Given the description of an element on the screen output the (x, y) to click on. 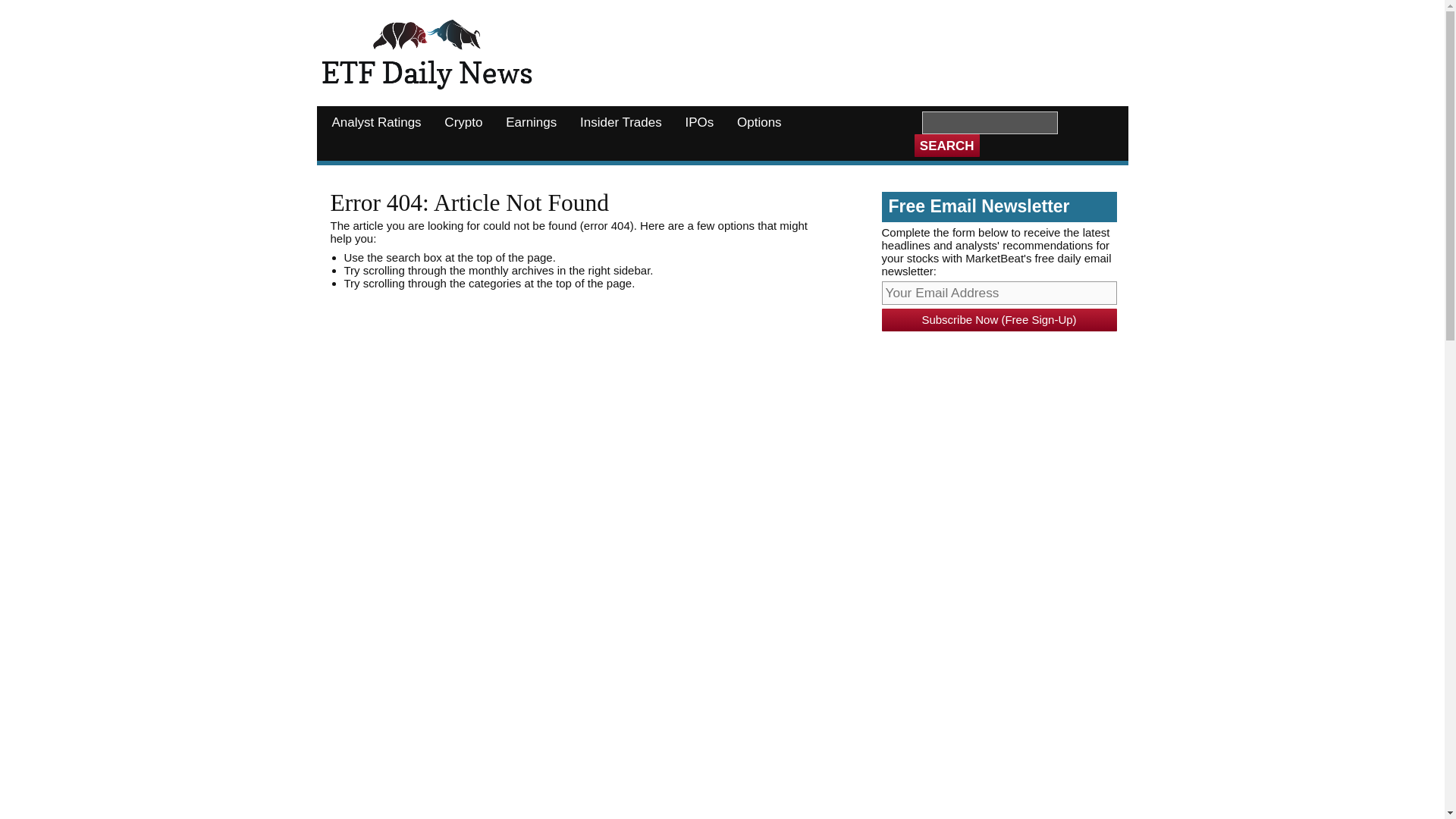
SEARCH (946, 146)
SEARCH (946, 146)
IPOs (699, 122)
Crypto (462, 122)
Insider Trades (620, 122)
ETF Daily News (427, 56)
Options (759, 122)
SEARCH (946, 146)
Analyst Ratings (376, 122)
Earnings (530, 122)
